Given the description of an element on the screen output the (x, y) to click on. 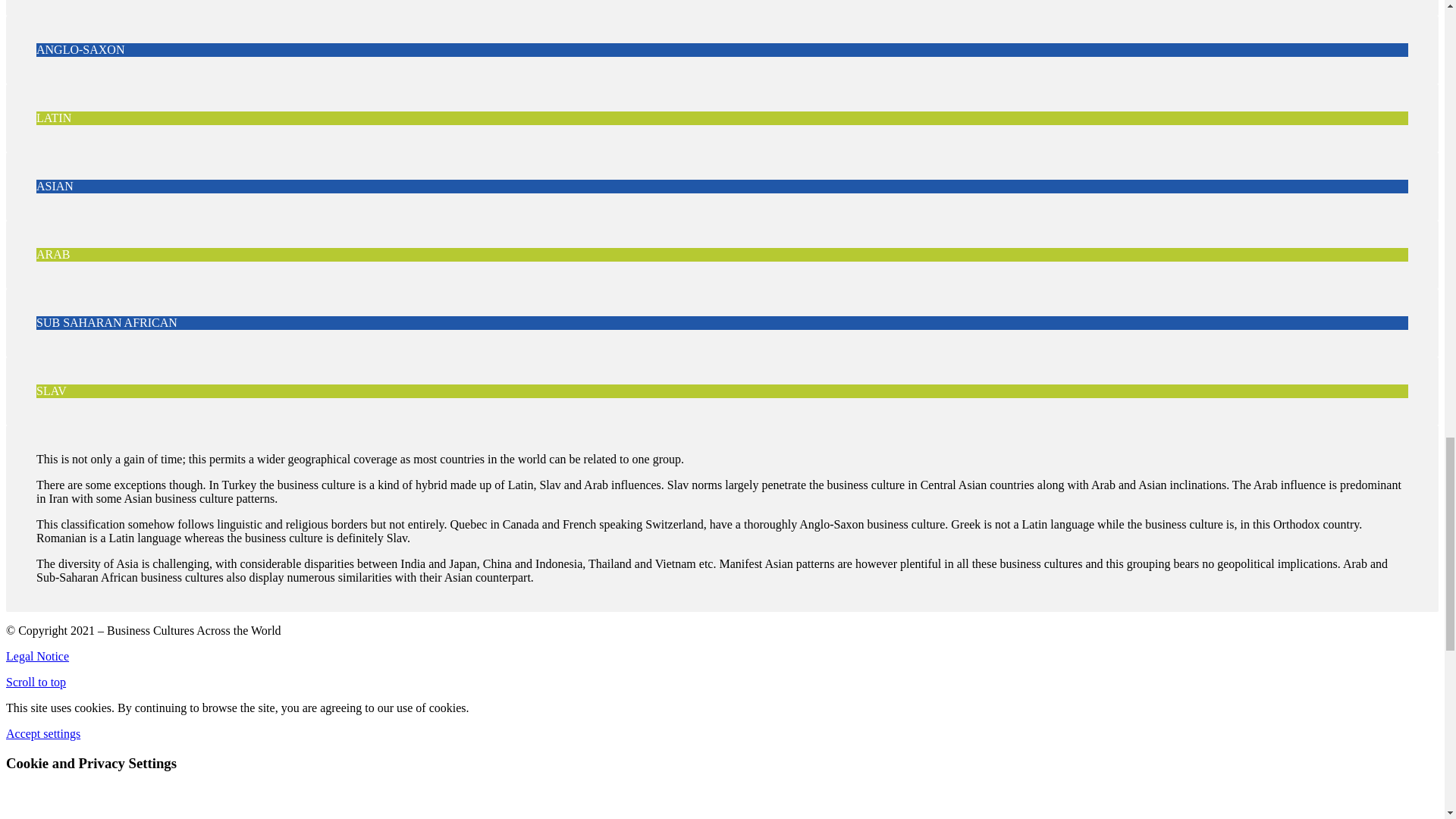
Legal Notice (36, 656)
Scroll to top (35, 681)
Accept settings (42, 733)
Scroll to top (35, 681)
